Given the description of an element on the screen output the (x, y) to click on. 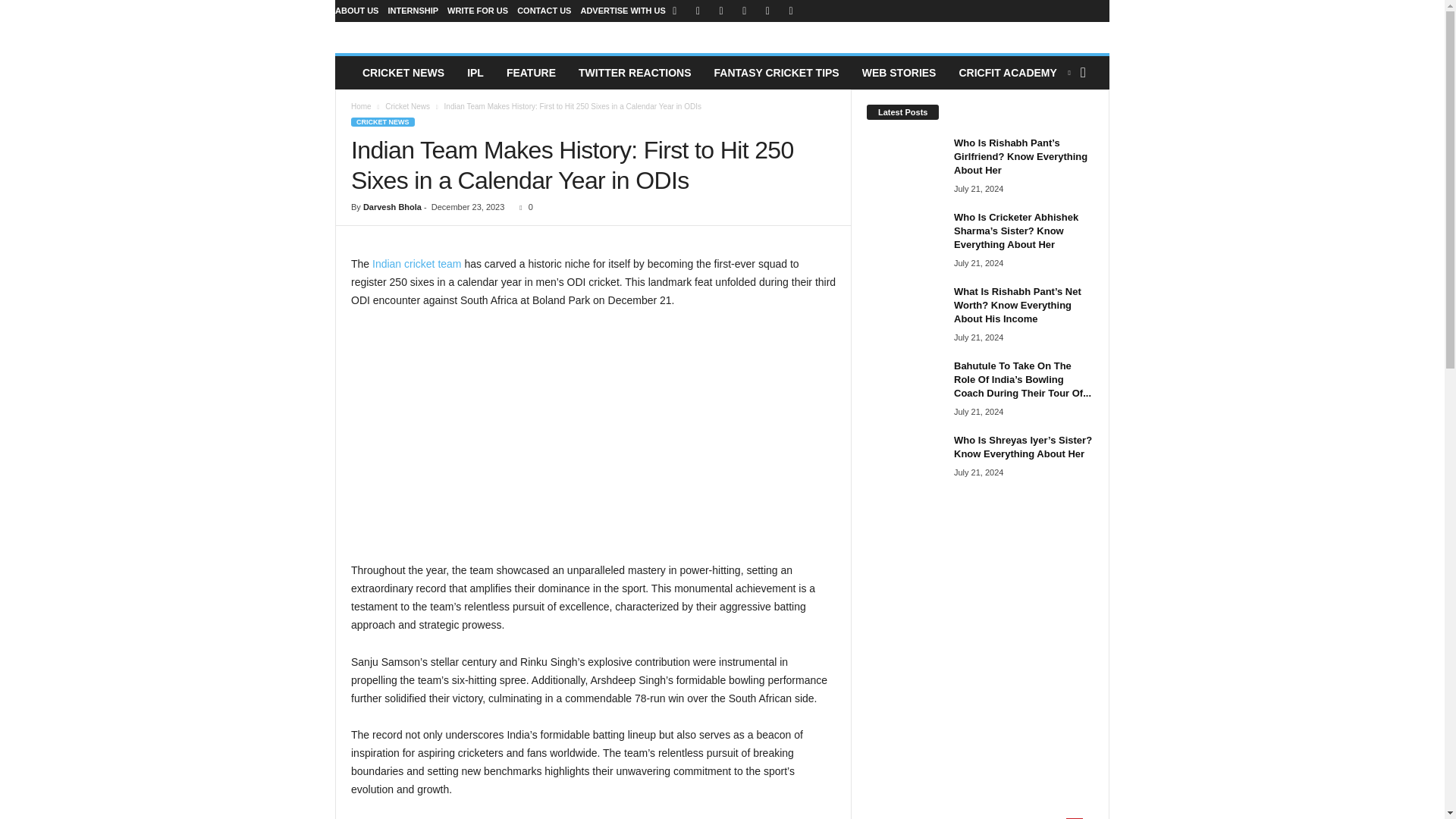
WRITE FOR US (477, 10)
WEB STORIES (898, 72)
ADVERTISE WITH US (622, 10)
FEATURE (531, 72)
IPL (475, 72)
CONTACT US (543, 10)
TWITTER REACTIONS (635, 72)
CRICFIT ACADEMY (1013, 72)
CRICKET NEWS (402, 72)
INTERNSHIP (412, 10)
View all posts in Cricket News (407, 106)
FANTASY CRICKET TIPS (776, 72)
ABOUT US (356, 10)
